Given the description of an element on the screen output the (x, y) to click on. 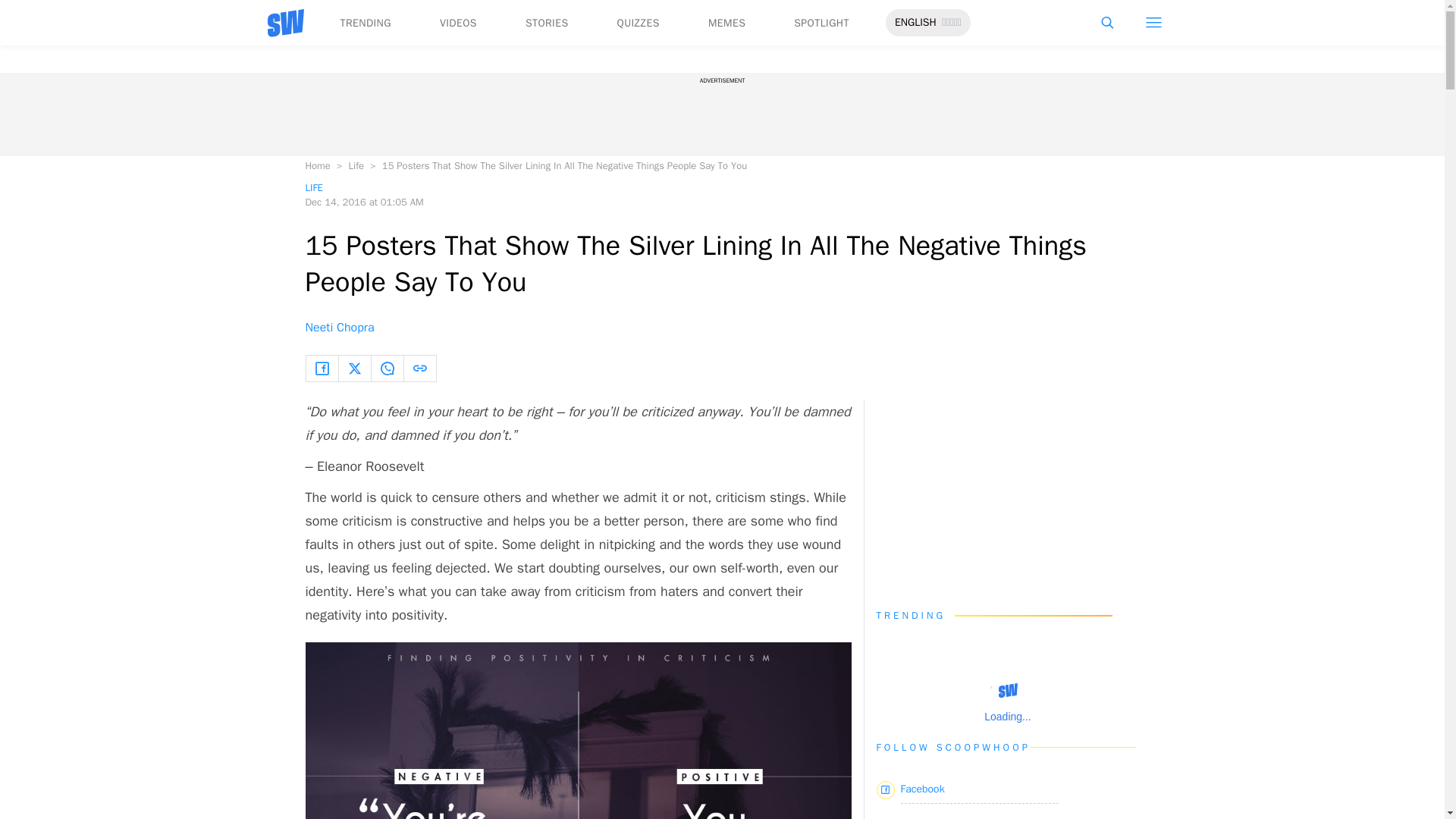
TRENDING (364, 22)
QUIZZES (638, 22)
VIDEOS (458, 22)
MEMES (726, 22)
STORIES (547, 22)
ENGLISH (915, 22)
SPOTLIGHT (820, 22)
